Given the description of an element on the screen output the (x, y) to click on. 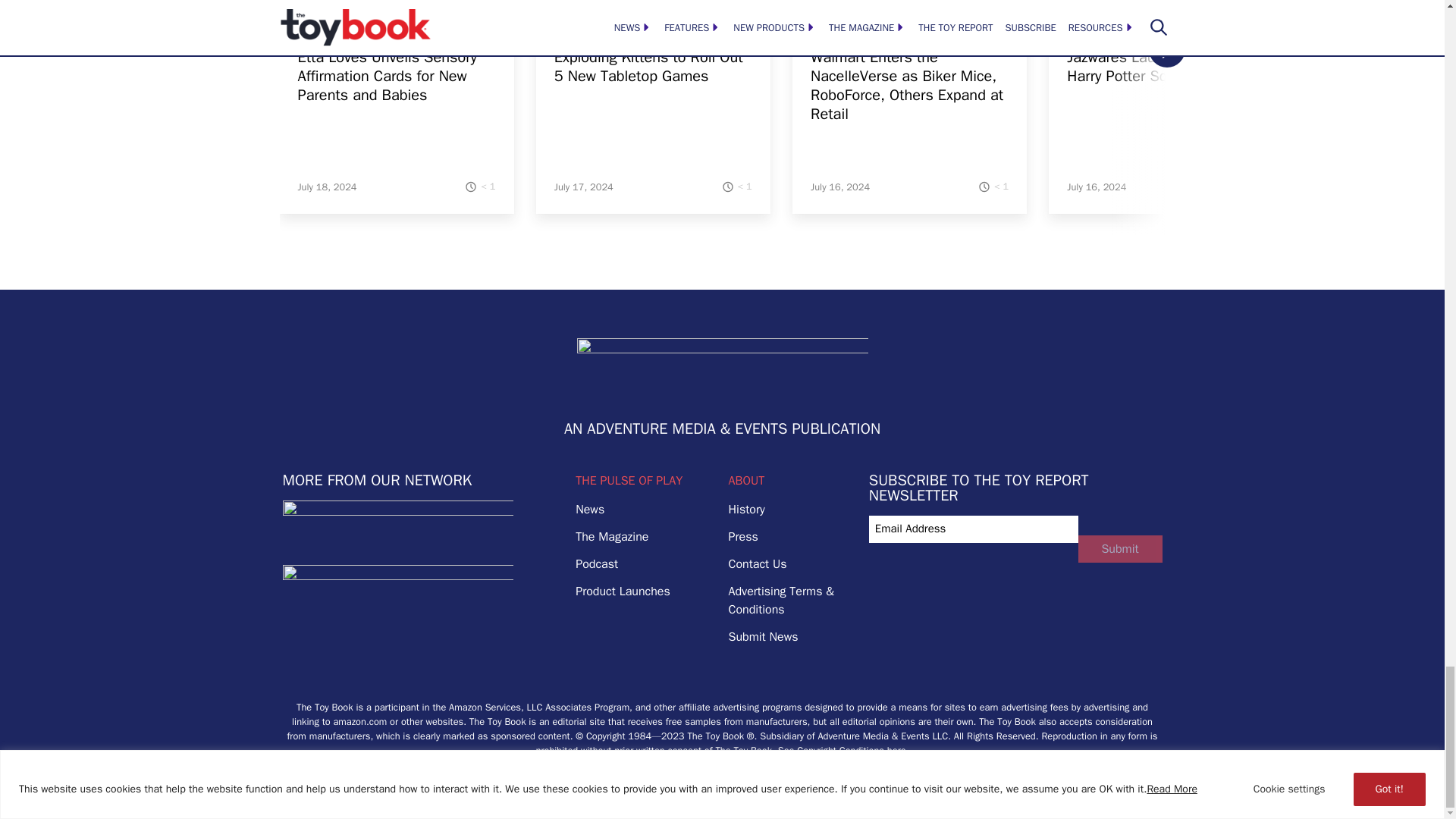
Go to  (396, 23)
Submit (1119, 548)
